Given the description of an element on the screen output the (x, y) to click on. 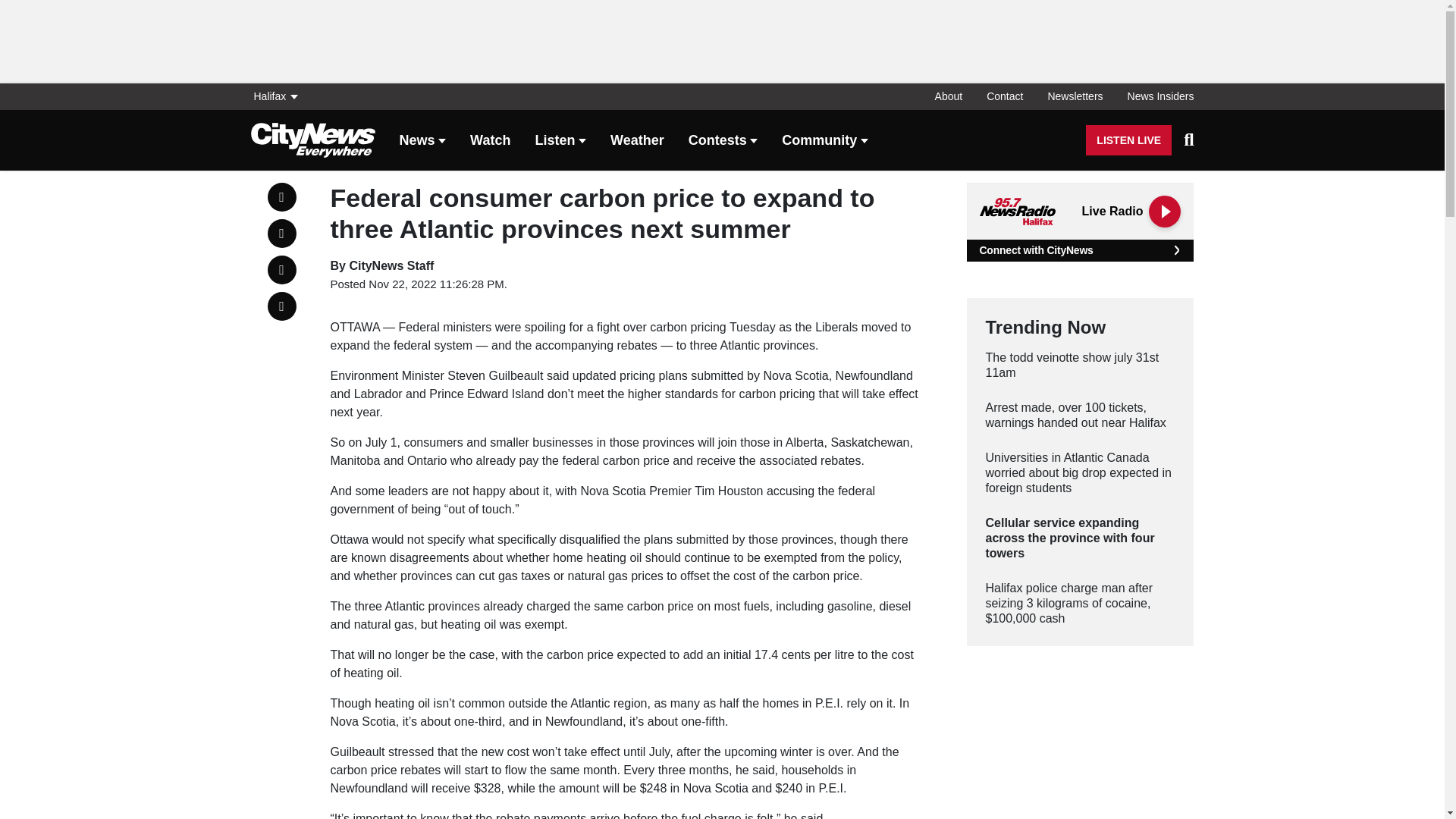
Contests (723, 140)
Halifax (278, 96)
the todd veinotte show july 31st 11am (1079, 365)
About (949, 96)
News (421, 140)
Weather (636, 140)
Newsletters (1075, 96)
Listen (560, 140)
News Insiders (1154, 96)
Contact (1004, 96)
Community (824, 140)
Watch (490, 140)
